Given the description of an element on the screen output the (x, y) to click on. 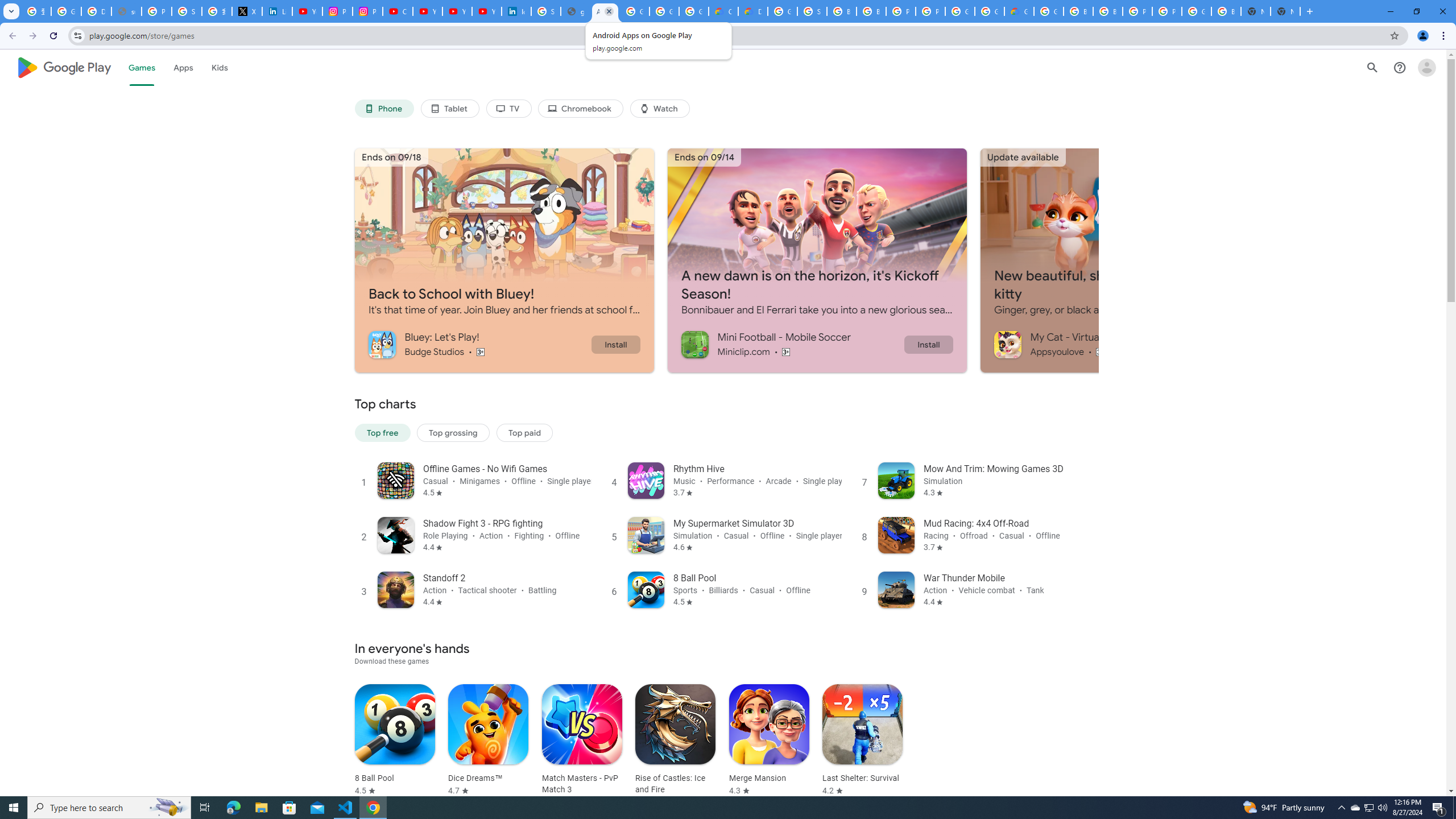
YouTube Culture & Trends - YouTube Top 10, 2021 (486, 11)
Phone (383, 108)
Android Apps on Google Play (604, 11)
Google Cloud Platform (959, 11)
Top free (381, 432)
